Given the description of an element on the screen output the (x, y) to click on. 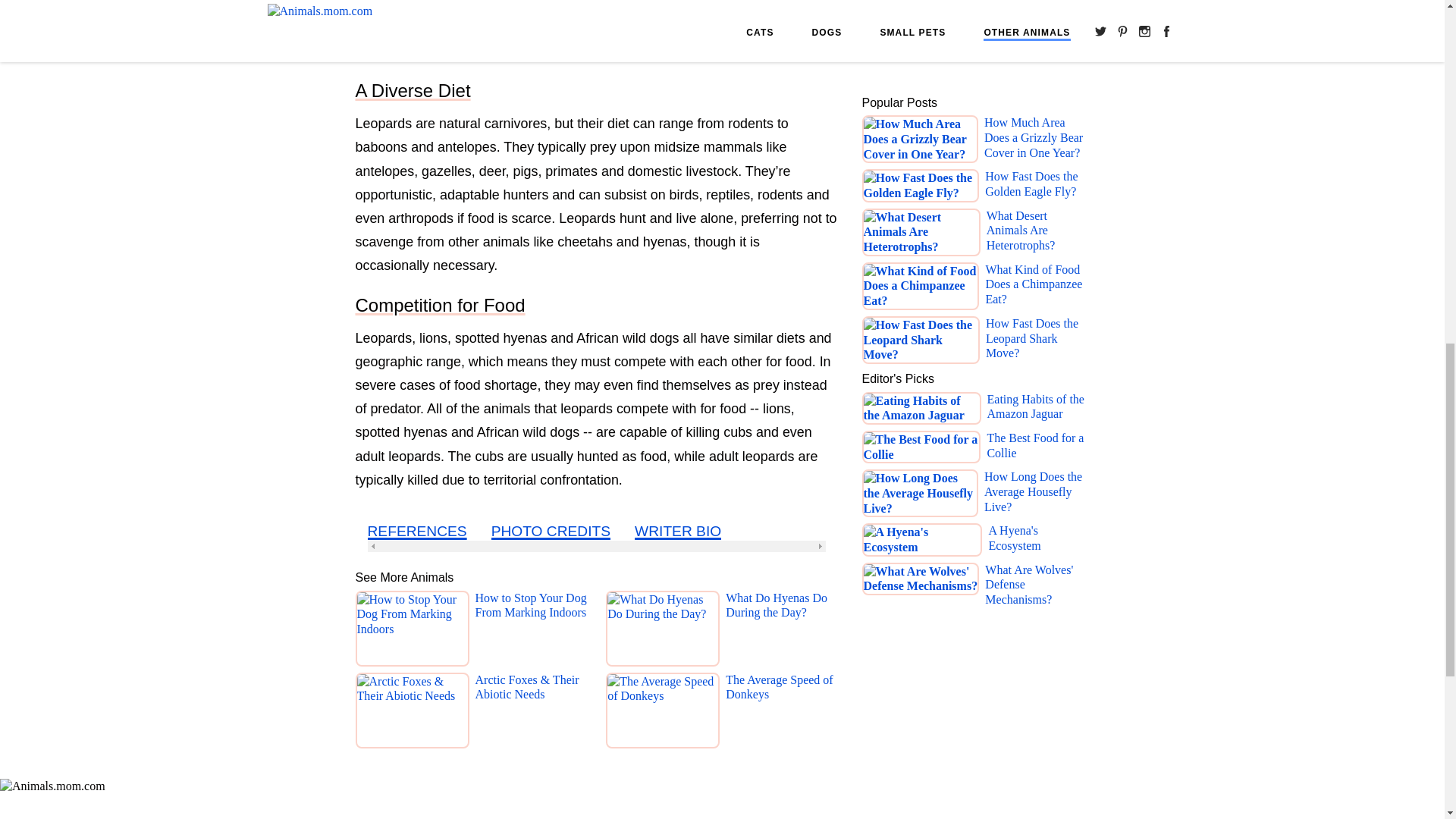
What Do Hyenas Do During the Day? (781, 631)
The Average Speed of Donkeys (781, 713)
How to Stop Your Dog From Marking Indoors (530, 631)
